Given the description of an element on the screen output the (x, y) to click on. 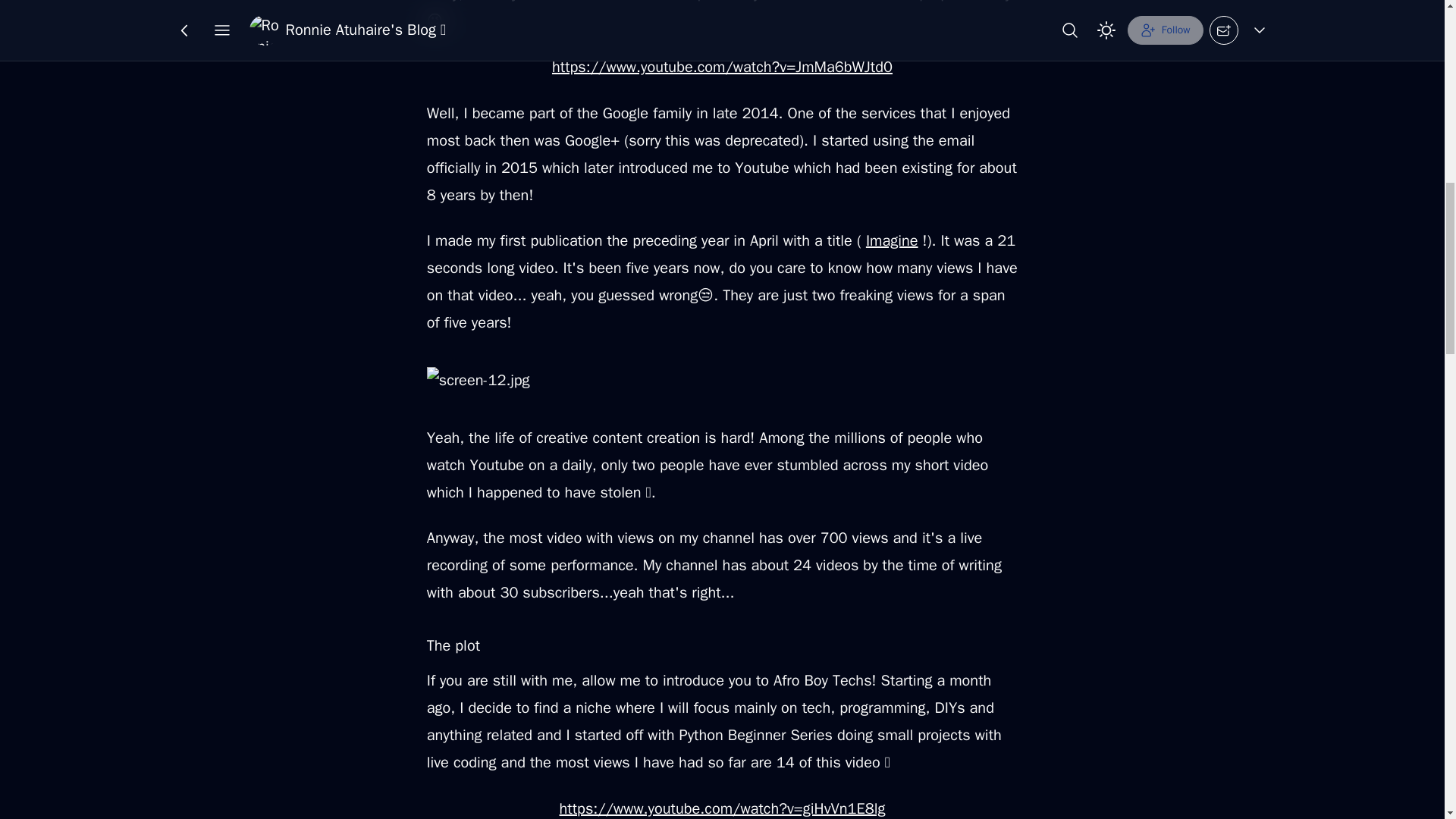
Imagine (892, 240)
Add Bookmark (743, 24)
